Given the description of an element on the screen output the (x, y) to click on. 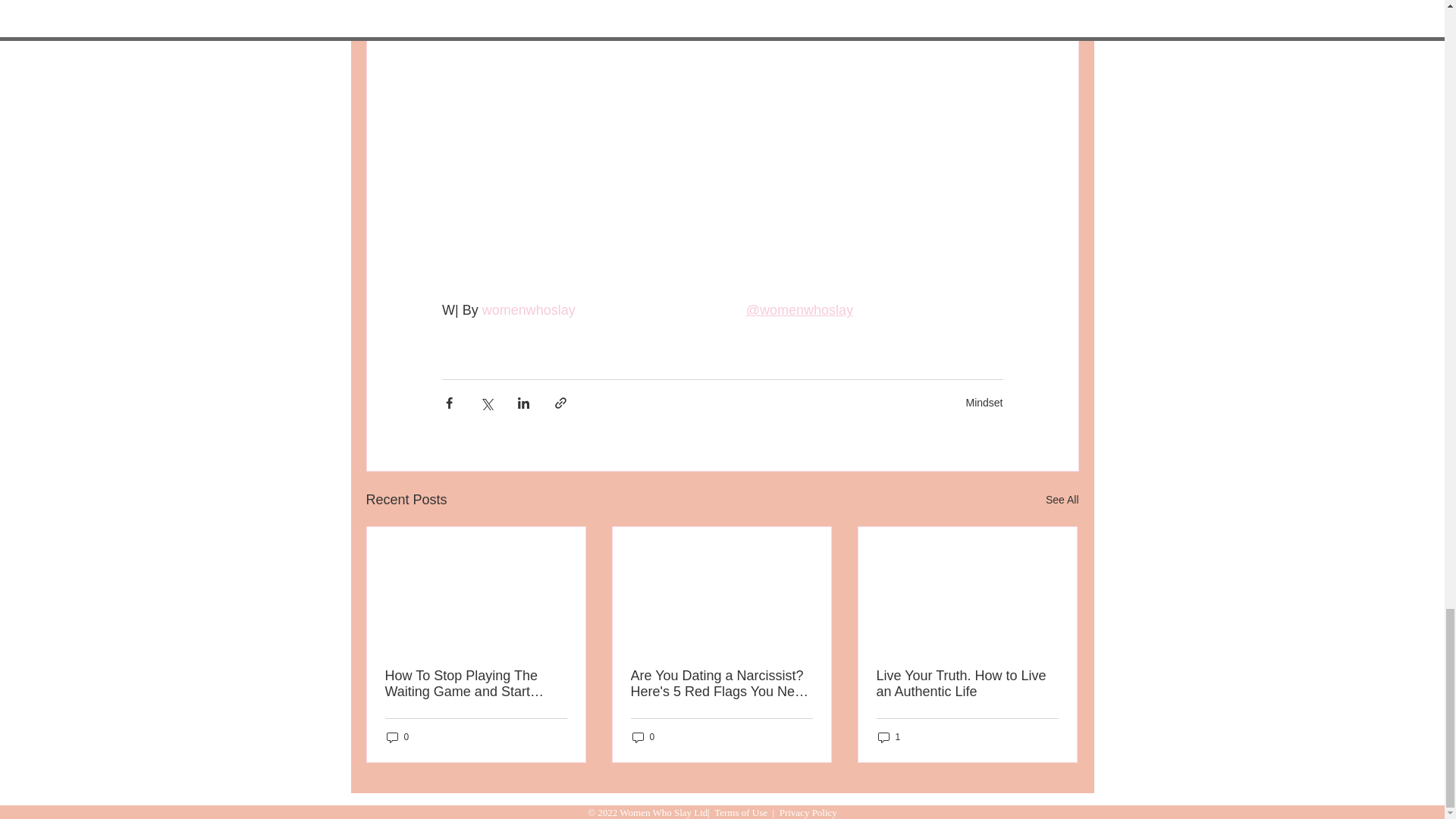
0 (397, 737)
Live Your Truth. How to Live an Authentic Life (967, 684)
See All (1061, 499)
Mindset (984, 402)
Terms of Use (740, 812)
0 (643, 737)
1 (889, 737)
here (830, 5)
